Given the description of an element on the screen output the (x, y) to click on. 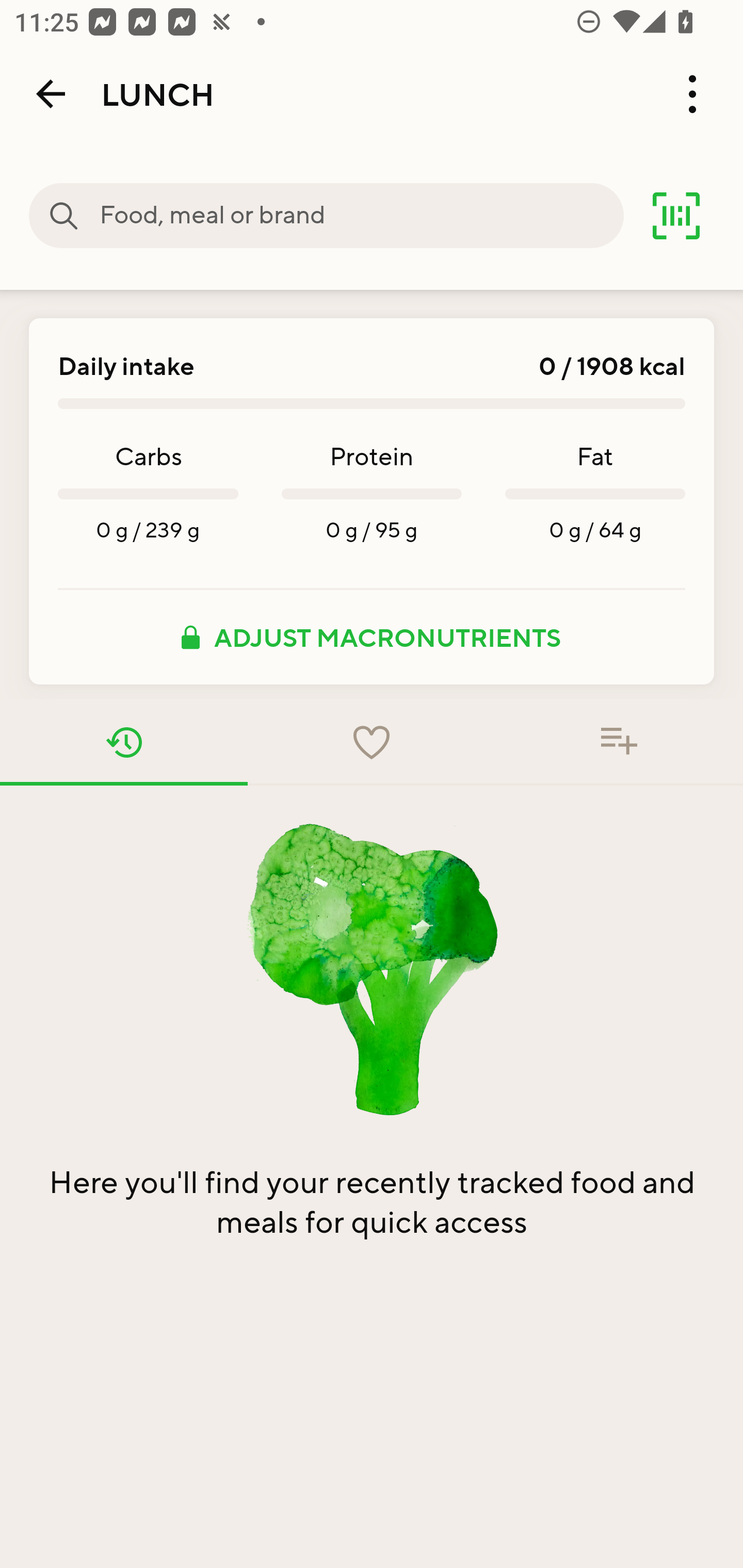
Back (50, 93)
Food, meal or brand (63, 215)
Food, meal or brand (361, 215)
ADJUST MACRONUTRIENTS (371, 637)
Favorites (371, 742)
Food added (619, 742)
